Given the description of an element on the screen output the (x, y) to click on. 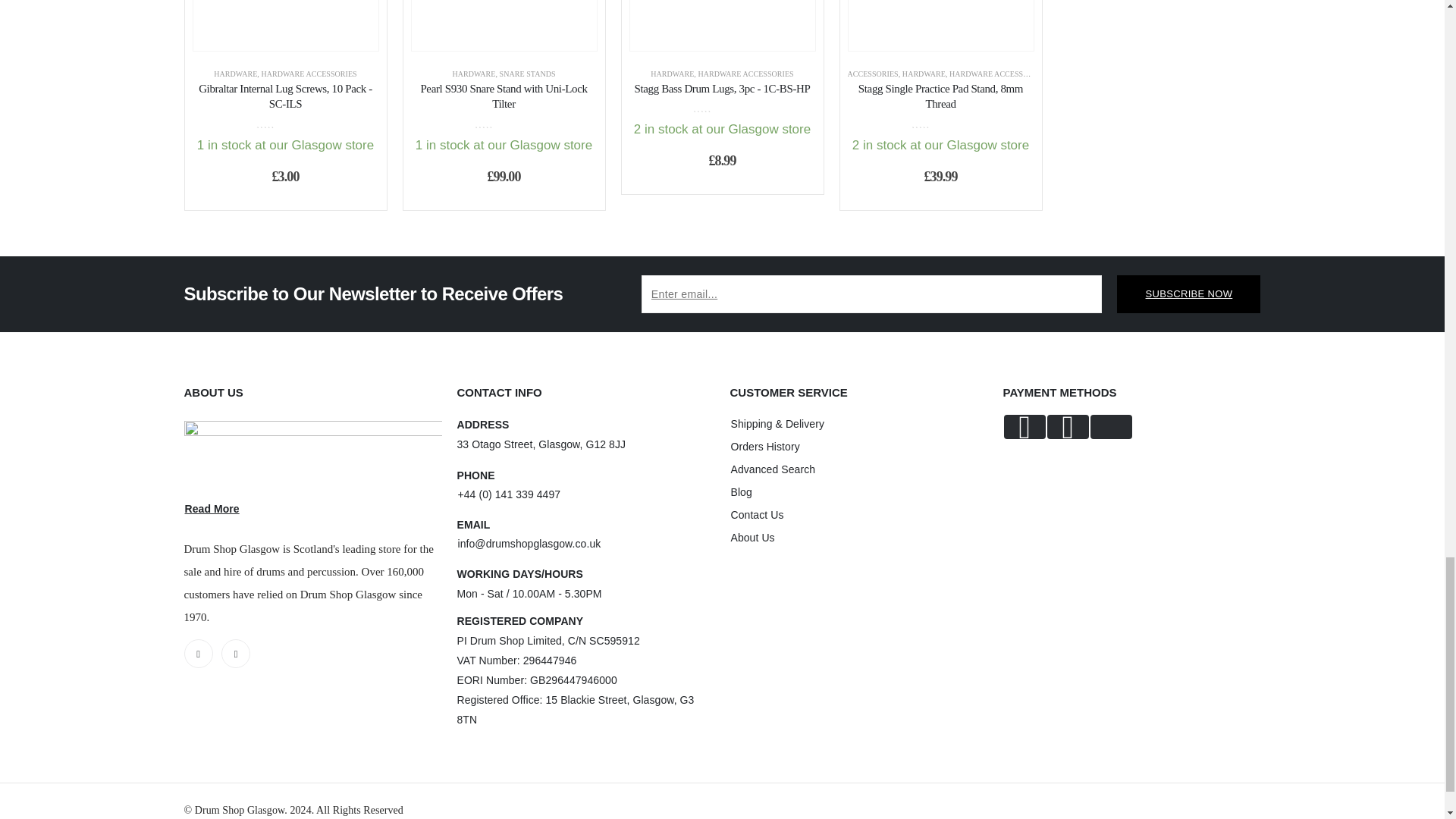
0 (285, 122)
